Given the description of an element on the screen output the (x, y) to click on. 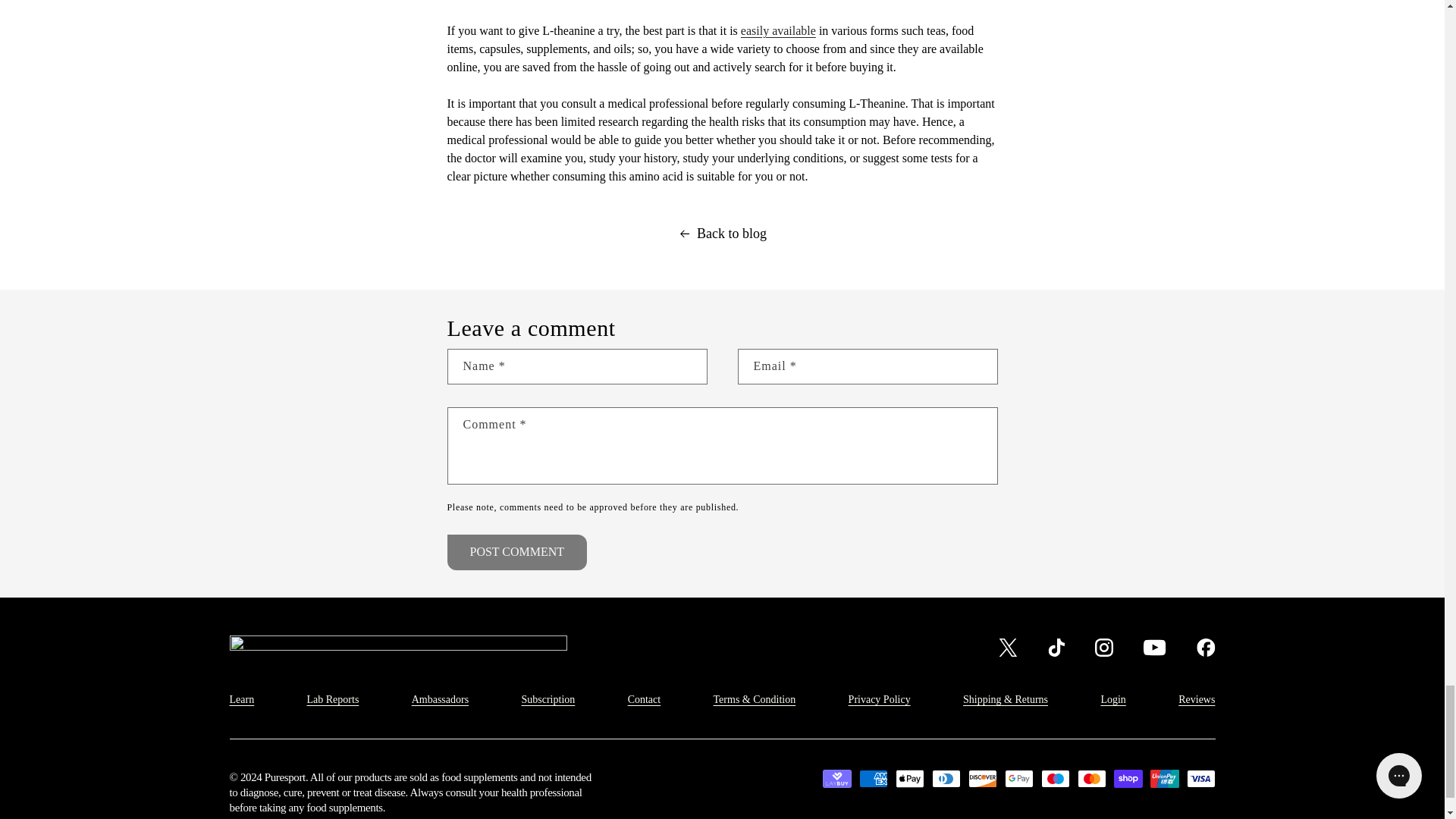
Post comment (517, 552)
